Given the description of an element on the screen output the (x, y) to click on. 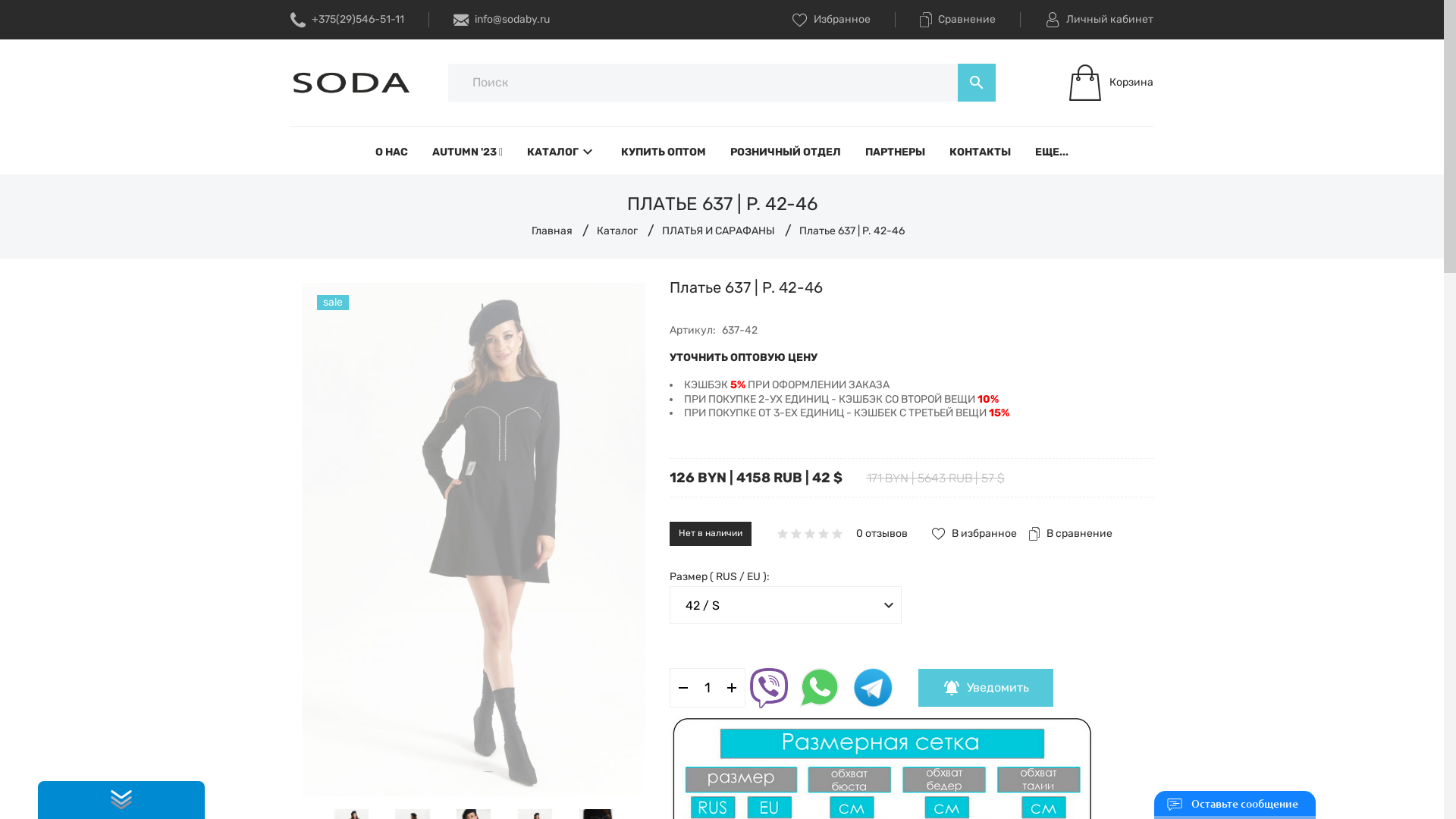
+375(29)546-51-11 Element type: text (347, 19)
info@sodaby.ru Element type: text (501, 19)
sale Element type: text (473, 539)
search Element type: text (976, 82)
